Given the description of an element on the screen output the (x, y) to click on. 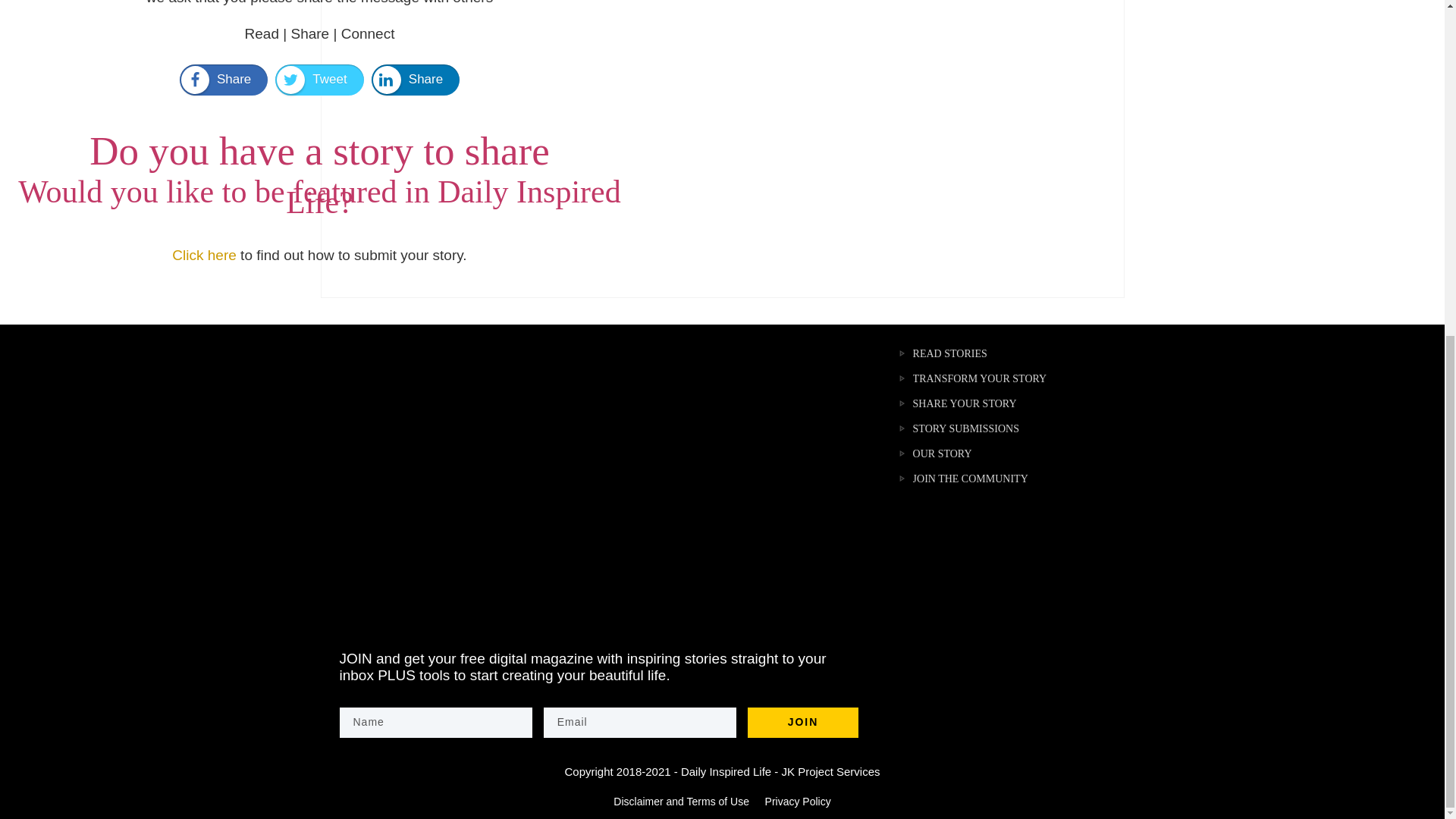
STORY SUBMISSIONS (957, 428)
Share (415, 79)
SHARE YOUR STORY (956, 403)
Privacy Policy (796, 801)
JOIN (802, 722)
READ STORIES (941, 353)
Share (223, 79)
TRANSFORM YOUR STORY (971, 378)
Disclaimer and Terms of Use (680, 801)
Tweet (318, 79)
JOIN THE COMMUNITY (961, 478)
OUR STORY (934, 454)
Click here (203, 254)
